Given the description of an element on the screen output the (x, y) to click on. 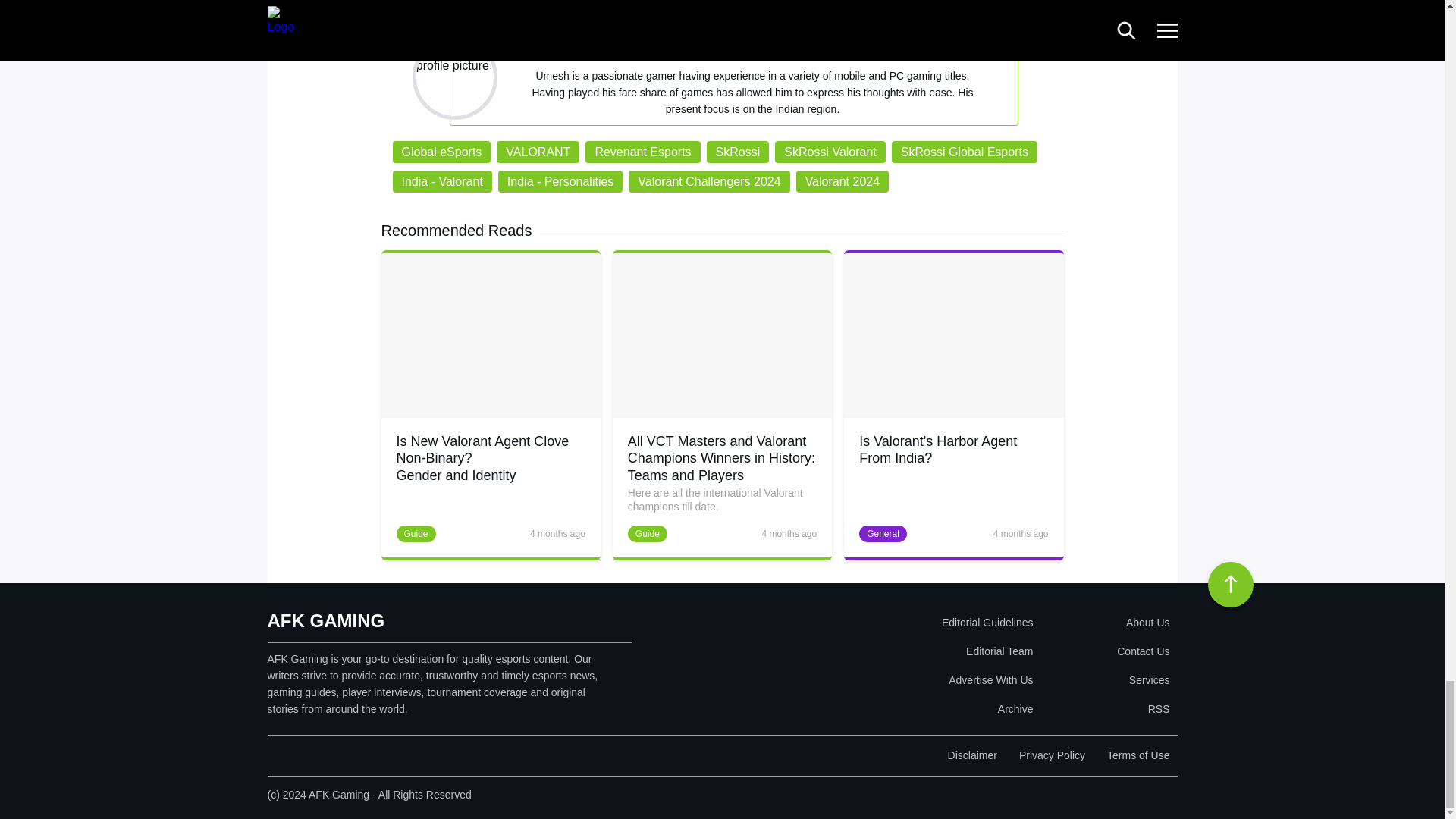
Global eSports (442, 151)
SkRossi (738, 151)
SkRossi Valorant (829, 151)
Revenant Esports (642, 151)
India - Personalities (560, 181)
SkRossi Global Esports (963, 151)
VALORANT (537, 151)
Who Is Skrossi? (406, 5)
Umesh Borkar (744, 55)
Valorant Challengers 2024 (708, 181)
India - Valorant (442, 181)
Valorant 2024 (842, 181)
